Given the description of an element on the screen output the (x, y) to click on. 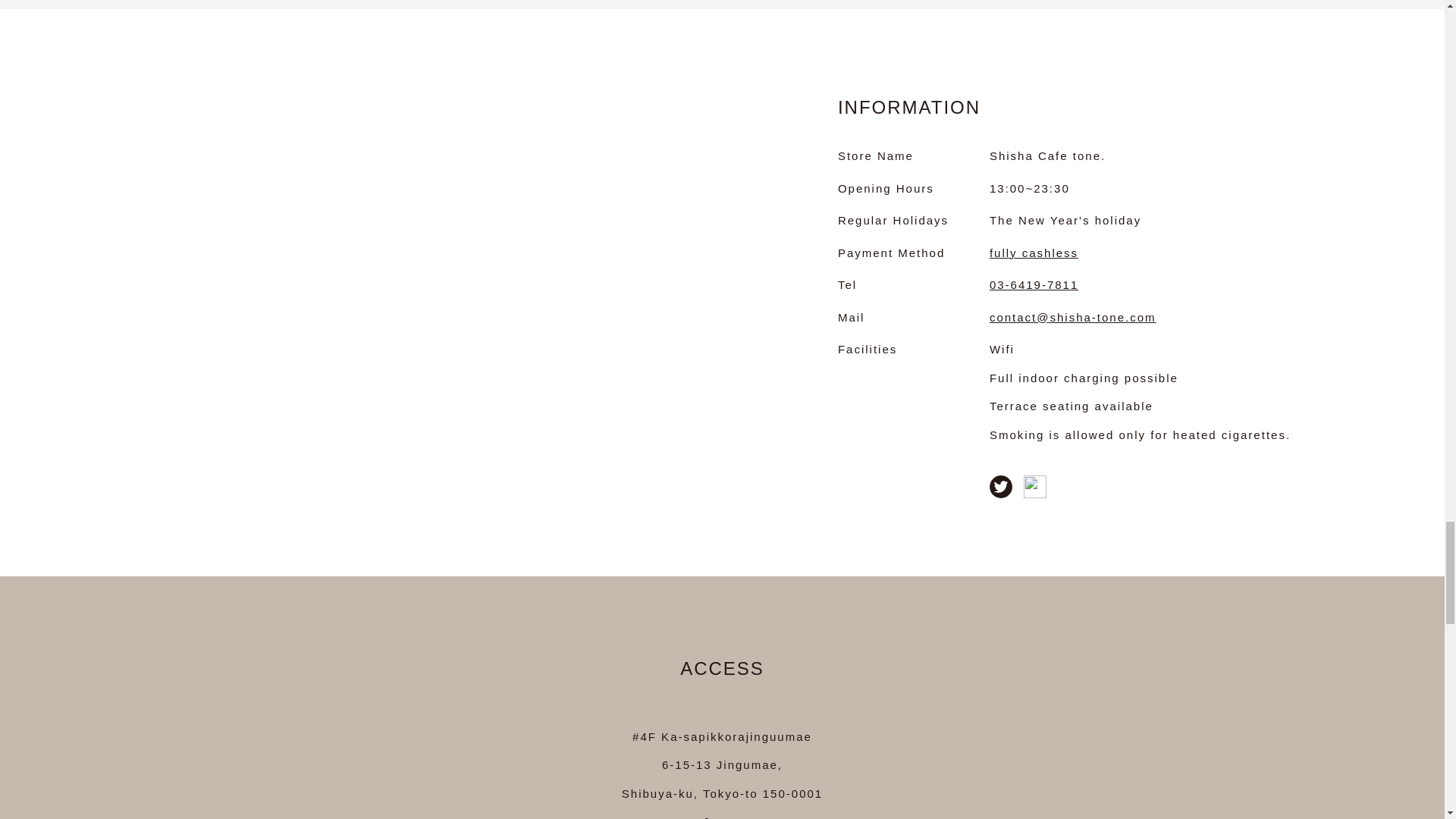
03-6419-7811 (1034, 284)
fully cashless (1034, 252)
